Given the description of an element on the screen output the (x, y) to click on. 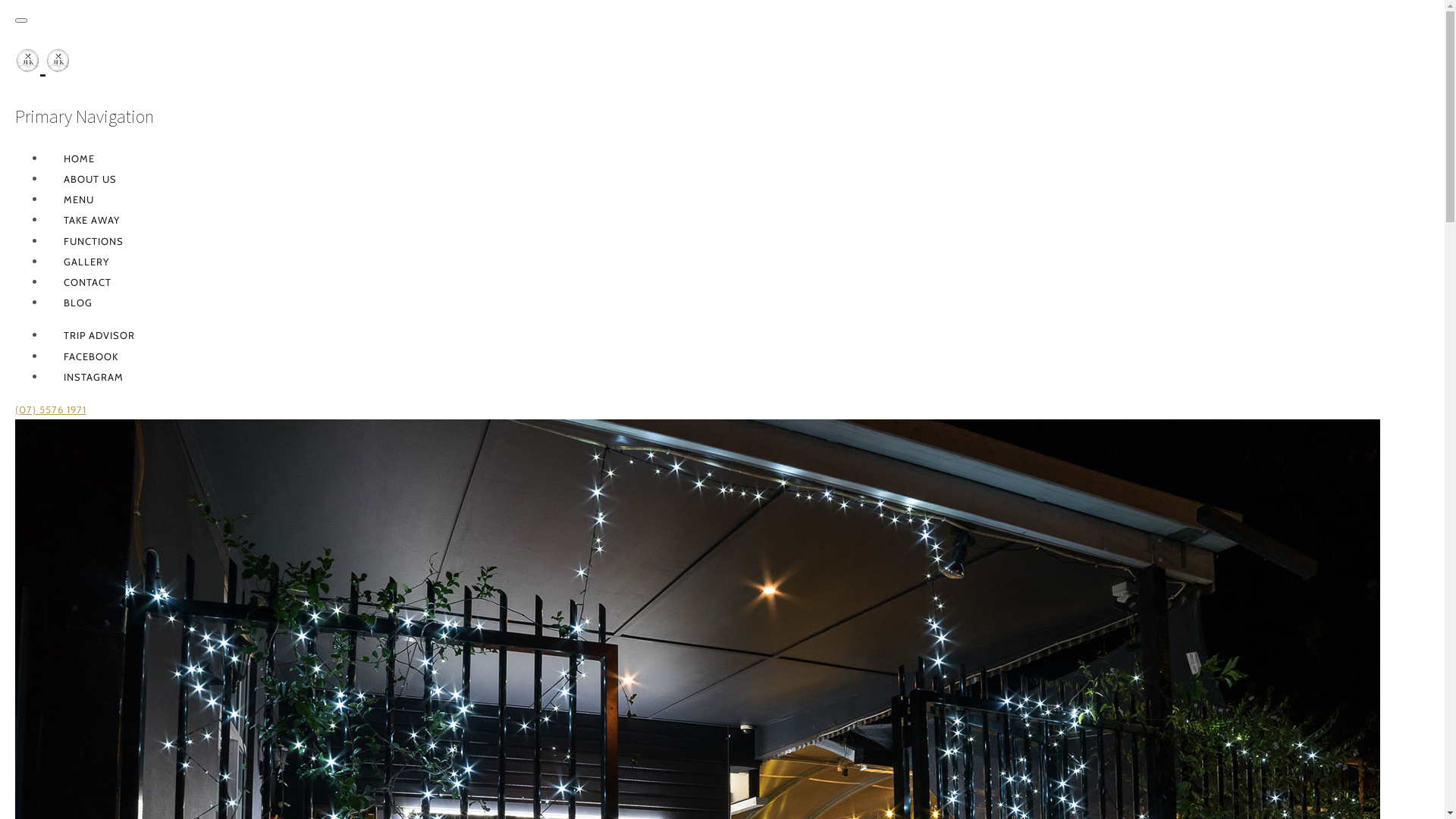
GALLERY Element type: text (83, 261)
(07) 5576 1971 Element type: text (50, 409)
TAKE AWAY Element type: text (89, 219)
INSTAGRAM Element type: text (91, 376)
FUNCTIONS Element type: text (91, 241)
CONTACT Element type: text (85, 282)
FACEBOOK Element type: text (88, 356)
ABOUT US Element type: text (87, 178)
TRIP ADVISOR Element type: text (96, 335)
MENU Element type: text (76, 199)
HOME Element type: text (76, 158)
BLOG Element type: text (75, 302)
JFK Element type: hover (42, 63)
